Given the description of an element on the screen output the (x, y) to click on. 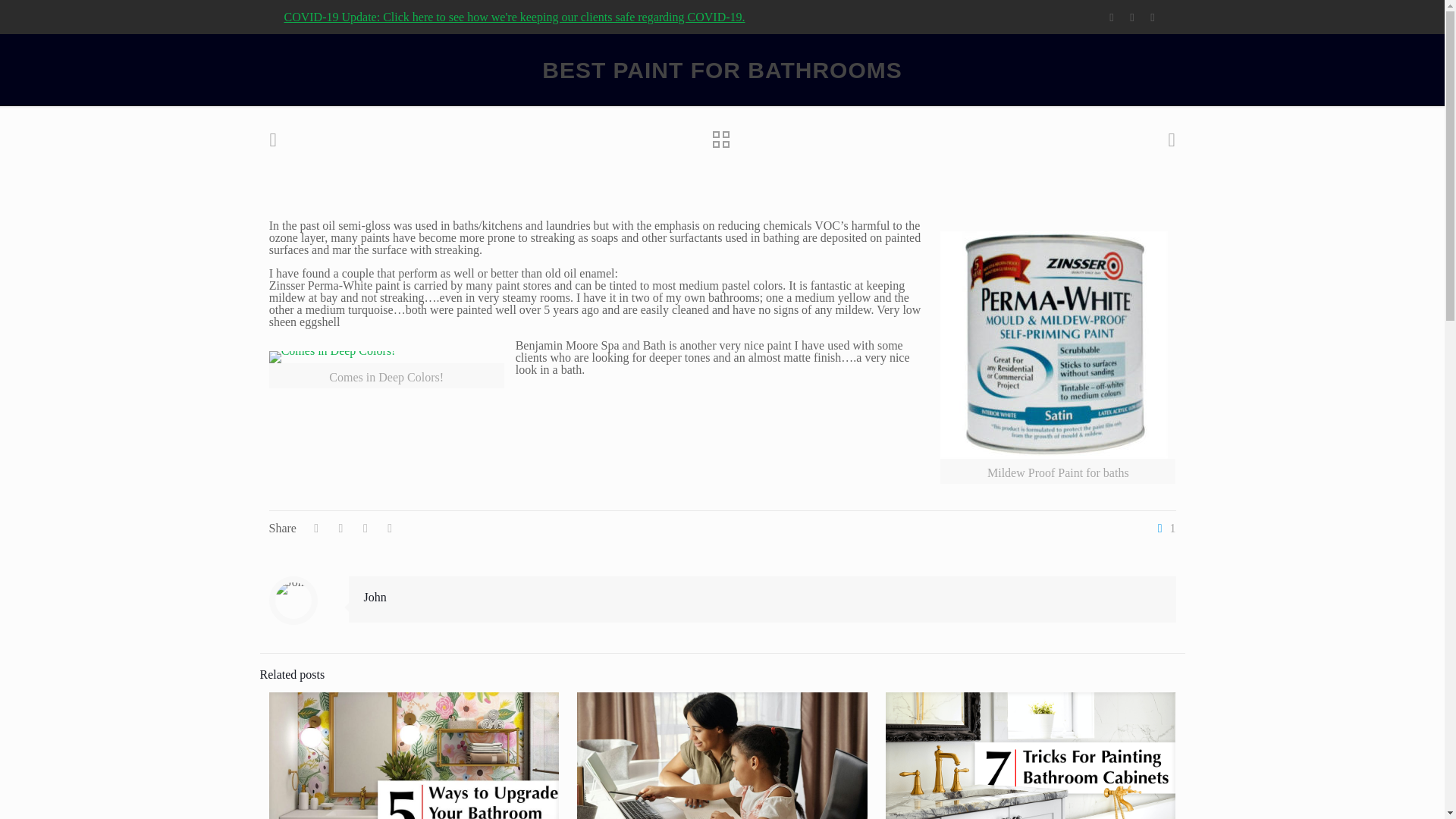
1 (1162, 528)
John (375, 596)
Facebook (1111, 17)
Instagram (1152, 17)
Pinterest (1132, 17)
